Given the description of an element on the screen output the (x, y) to click on. 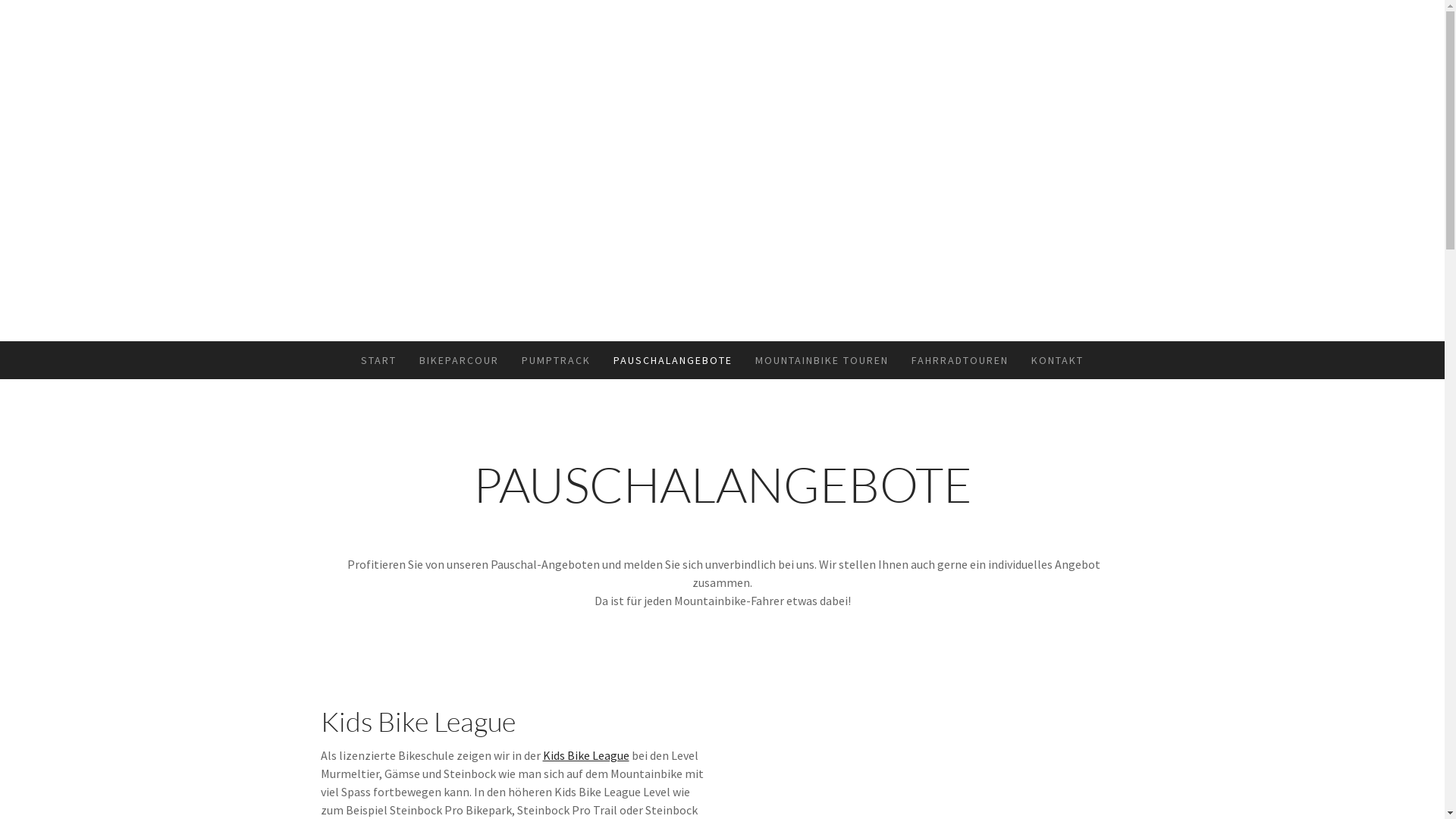
START Element type: text (378, 360)
PUMPTRACK Element type: text (556, 360)
FAHRRADTOUREN Element type: text (959, 360)
PAUSCHALANGEBOTE Element type: text (672, 360)
KONTAKT Element type: text (1057, 360)
Kids Bike League Element type: text (585, 754)
BIKEPARCOUR Element type: text (458, 360)
MOUNTAINBIKE TOUREN Element type: text (821, 360)
